Given the description of an element on the screen output the (x, y) to click on. 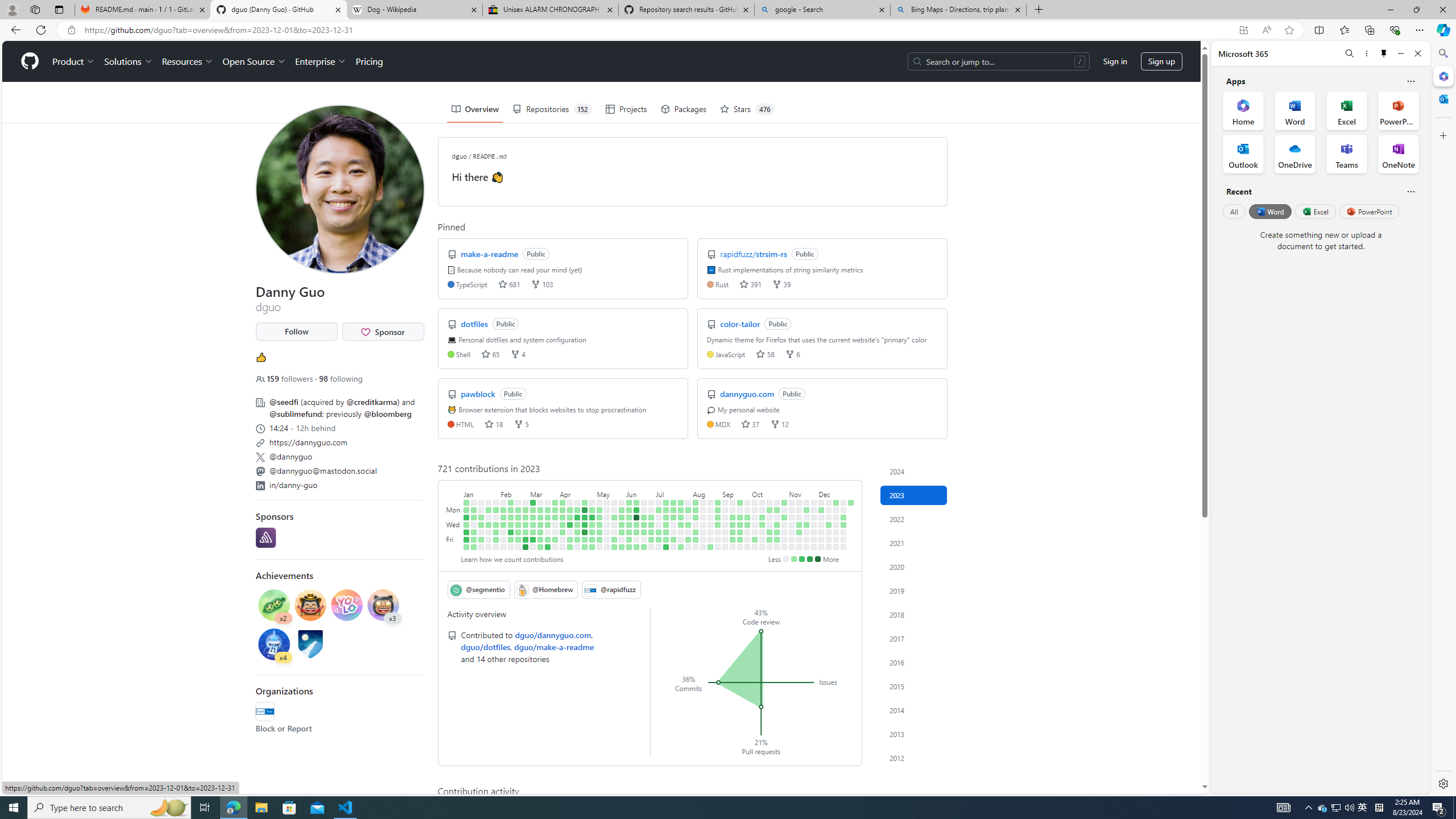
No contributions on September 25th. (747, 509)
1 contribution on September 14th. (732, 531)
14 contributions on March 25th. (547, 546)
4 contributions on February 14th. (510, 517)
No contributions on December 10th. (828, 502)
Mastodon (259, 470)
No contributions on March 19th. (547, 502)
No contributions on August 19th. (703, 546)
No contributions on November 18th. (799, 546)
@bloomberg (388, 413)
2 contributions on August 26th. (710, 546)
No contributions on April 30th. (592, 502)
No contributions on December 25th. (843, 509)
No contributions on December 21st. (836, 531)
2 contributions on April 2nd. (562, 502)
